Given the description of an element on the screen output the (x, y) to click on. 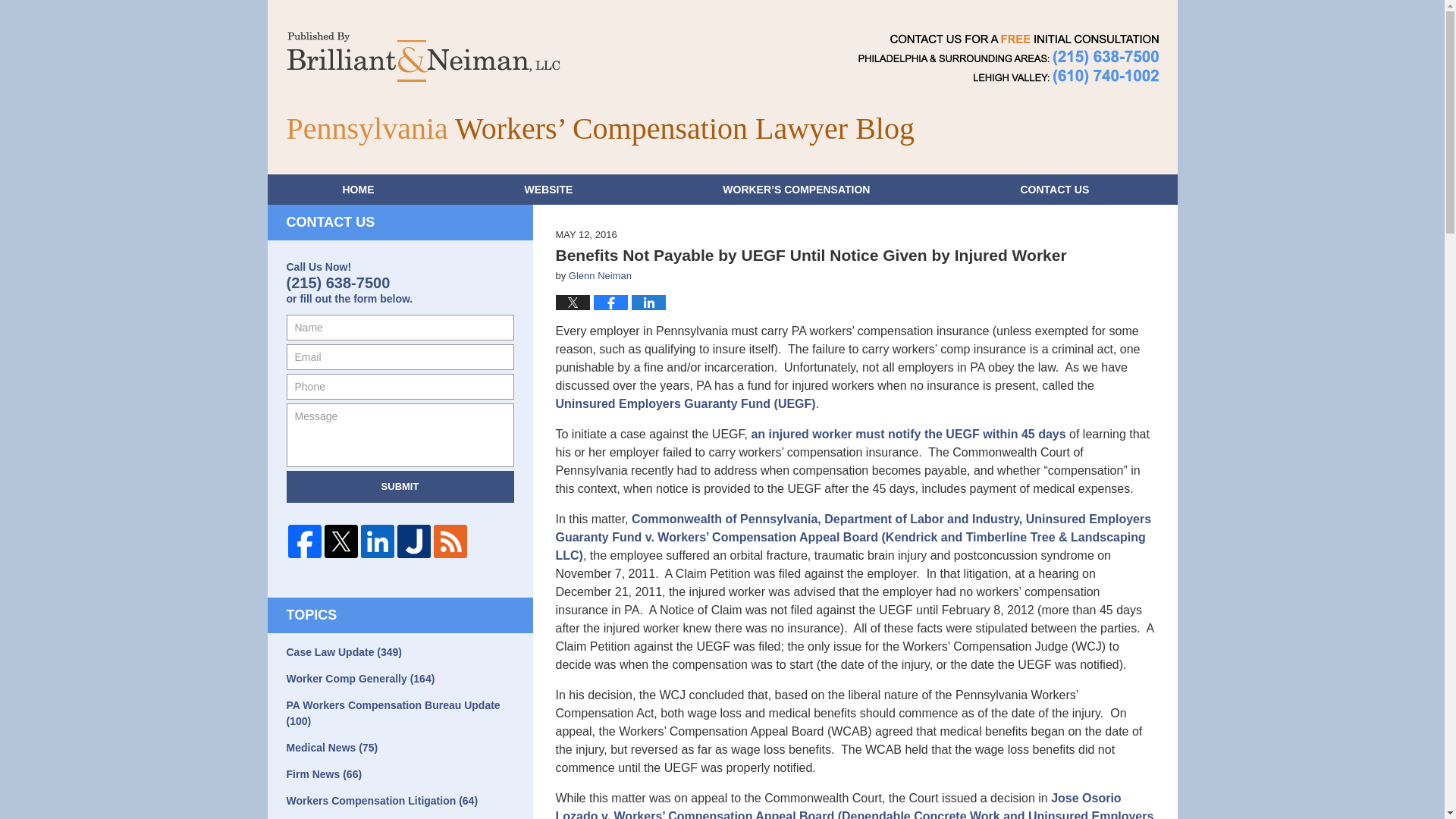
WEBSITE (547, 189)
Glenn Neiman (600, 275)
Justia (414, 540)
Facebook (304, 540)
an injured worker must notify the UEGF within 45 days (908, 433)
Please enter a valid phone number. (399, 386)
Twitter (341, 540)
Pennsylvania Workers' Compensation Lawyer Blog (423, 56)
LinkedIn (377, 540)
Feed (450, 540)
SUBMIT (399, 486)
CONTACT US (1053, 189)
HOME (357, 189)
